Given the description of an element on the screen output the (x, y) to click on. 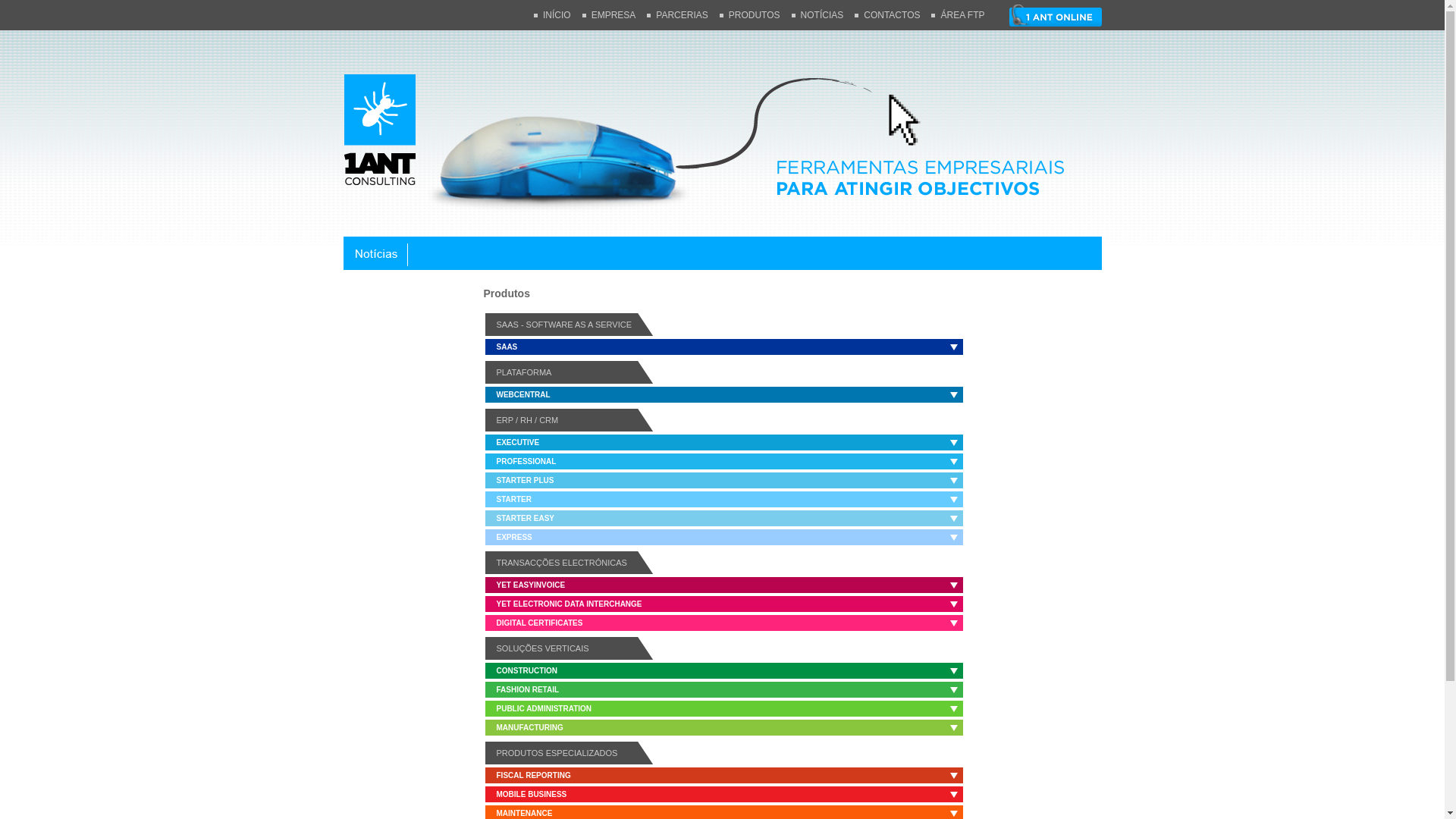
CONTACTOS Element type: text (891, 14)
EMPRESA Element type: text (613, 14)
FERRAMENTAS EMPRESARIAIS PARA ATINGIR OBJECTIVOS Element type: hover (721, 133)
PARCERIAS Element type: text (681, 14)
PRODUTOS Element type: text (754, 14)
